Given the description of an element on the screen output the (x, y) to click on. 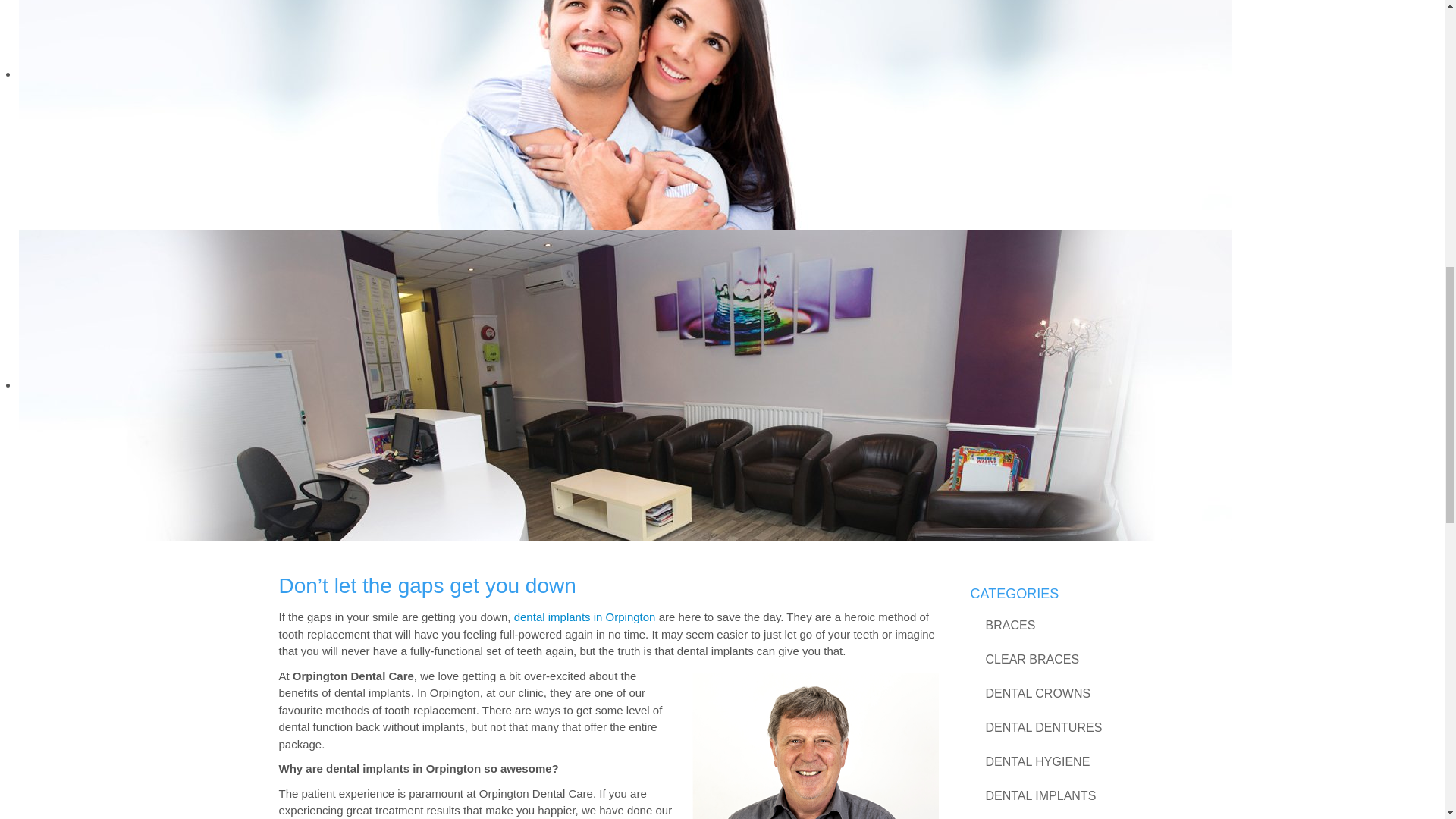
dental implants in Orpington (584, 616)
DENTAL IMPLANTS (1071, 795)
DENTAL HYGIENE (1071, 761)
GENERAL DENTISTRY (1071, 816)
CLEAR BRACES (1071, 659)
DENTAL DENTURES (1071, 727)
DENTAL CROWNS (1071, 693)
BRACES (1071, 625)
